Given the description of an element on the screen output the (x, y) to click on. 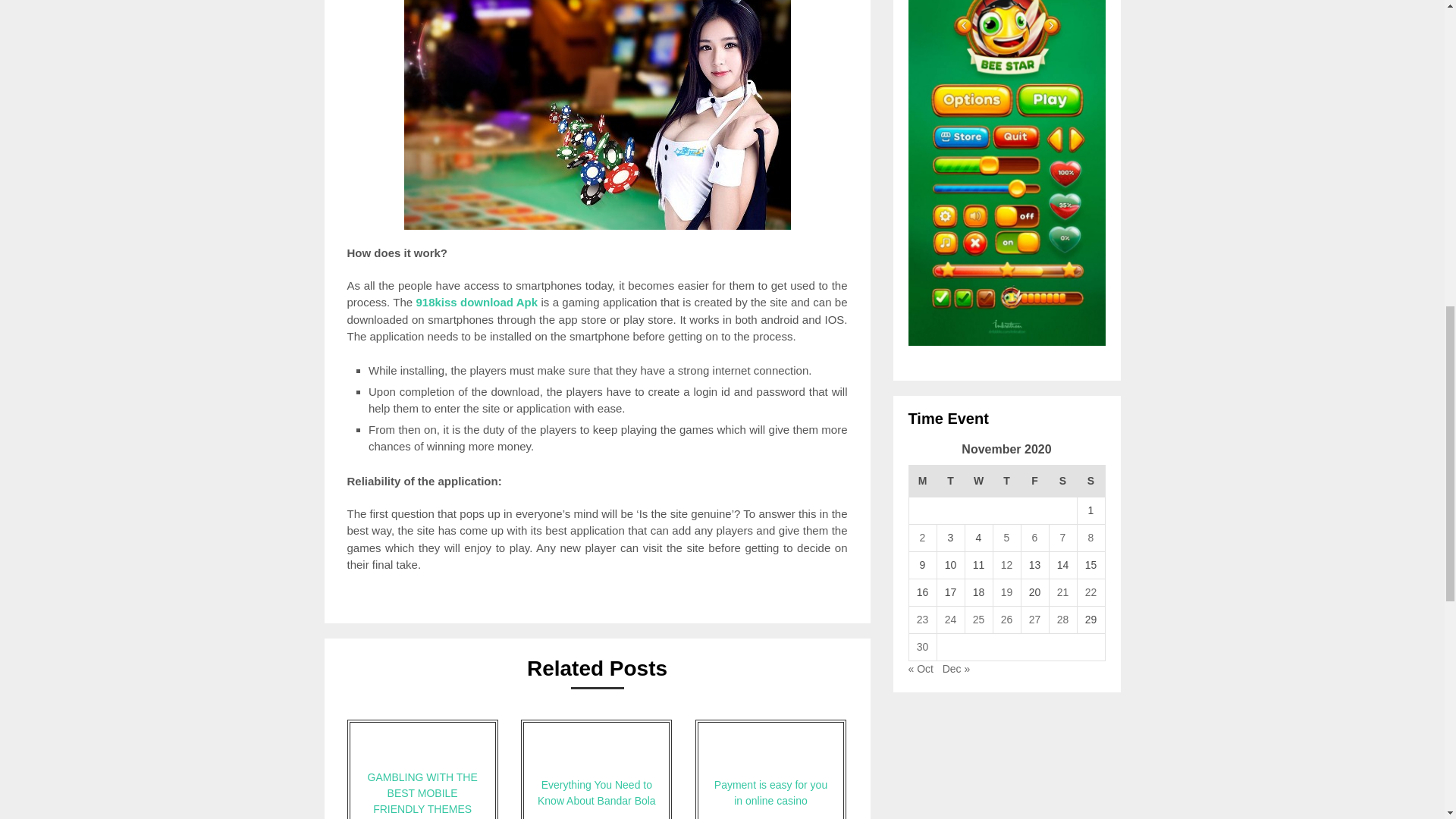
Payment is easy for you in online casino (770, 769)
Everything You Need to Know About Bandar Bola (596, 769)
Everything You Need to Know About Bandar Bola (596, 769)
12 (1007, 564)
918kiss download Apk (475, 301)
Play gambling games (596, 115)
22 (1090, 592)
Payment is easy for you in online casino (770, 769)
23 (922, 619)
24 (950, 619)
GAMBLING WITH THE BEST MOBILE FRIENDLY THEMES (422, 769)
26 (1007, 619)
GAMBLING WITH THE BEST MOBILE FRIENDLY THEMES (422, 769)
30 (922, 646)
27 (1035, 619)
